Given the description of an element on the screen output the (x, y) to click on. 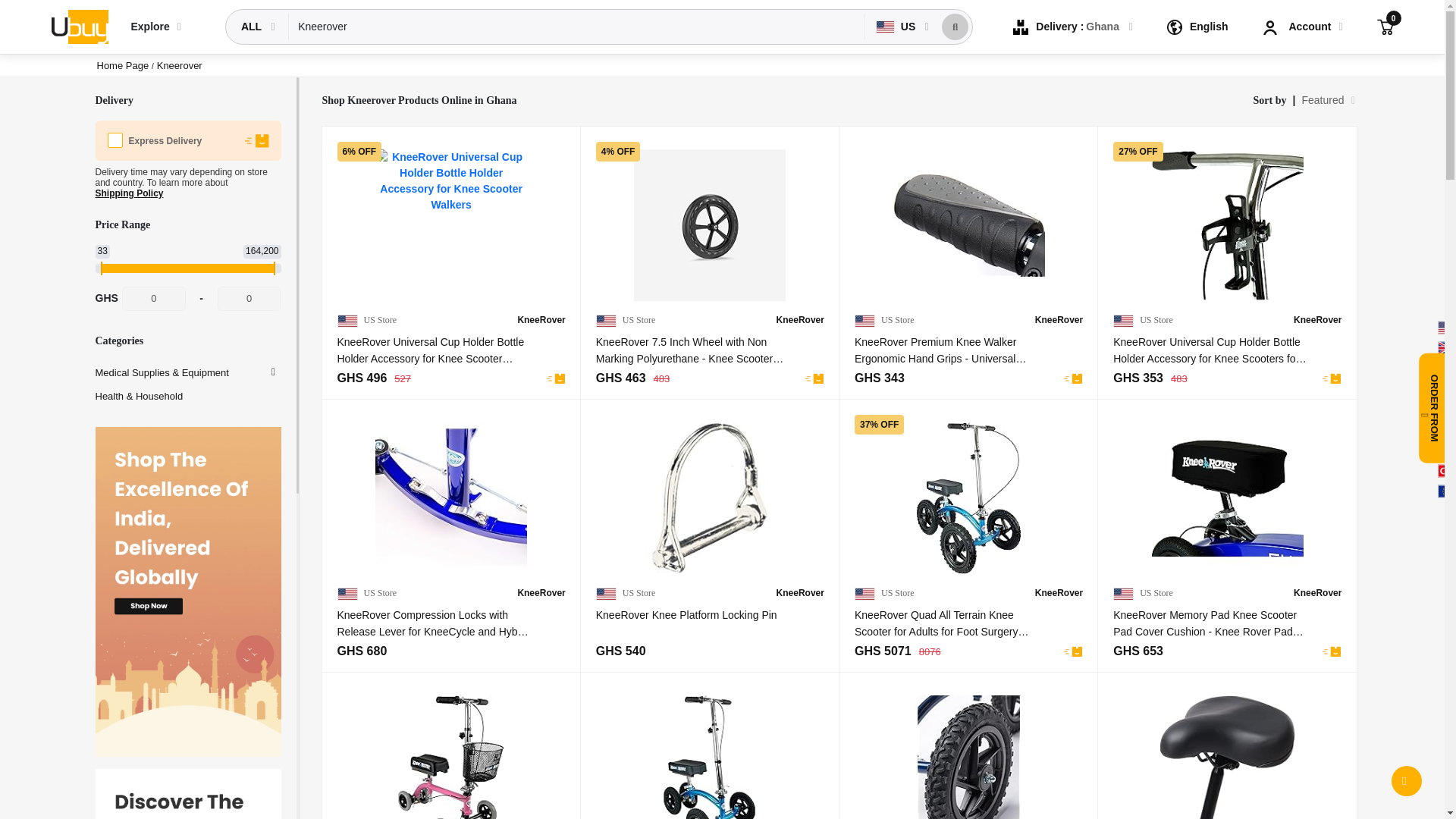
US (897, 26)
0 (154, 298)
Kneerover (576, 26)
ALL (253, 26)
0 (248, 298)
0 (1385, 26)
Ubuy (78, 26)
